Given the description of an element on the screen output the (x, y) to click on. 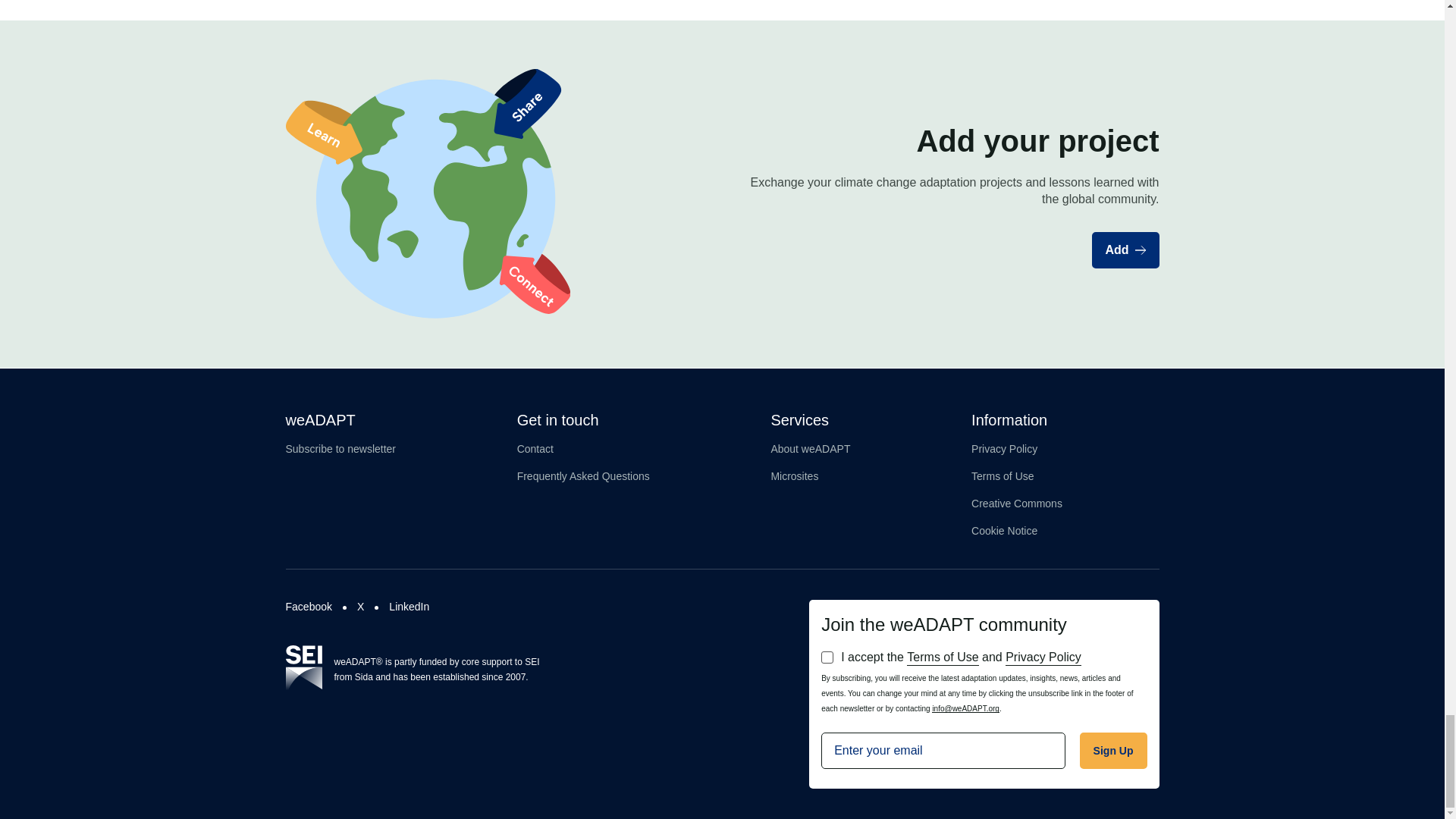
1 (826, 657)
Sign Up (1113, 750)
